Given the description of an element on the screen output the (x, y) to click on. 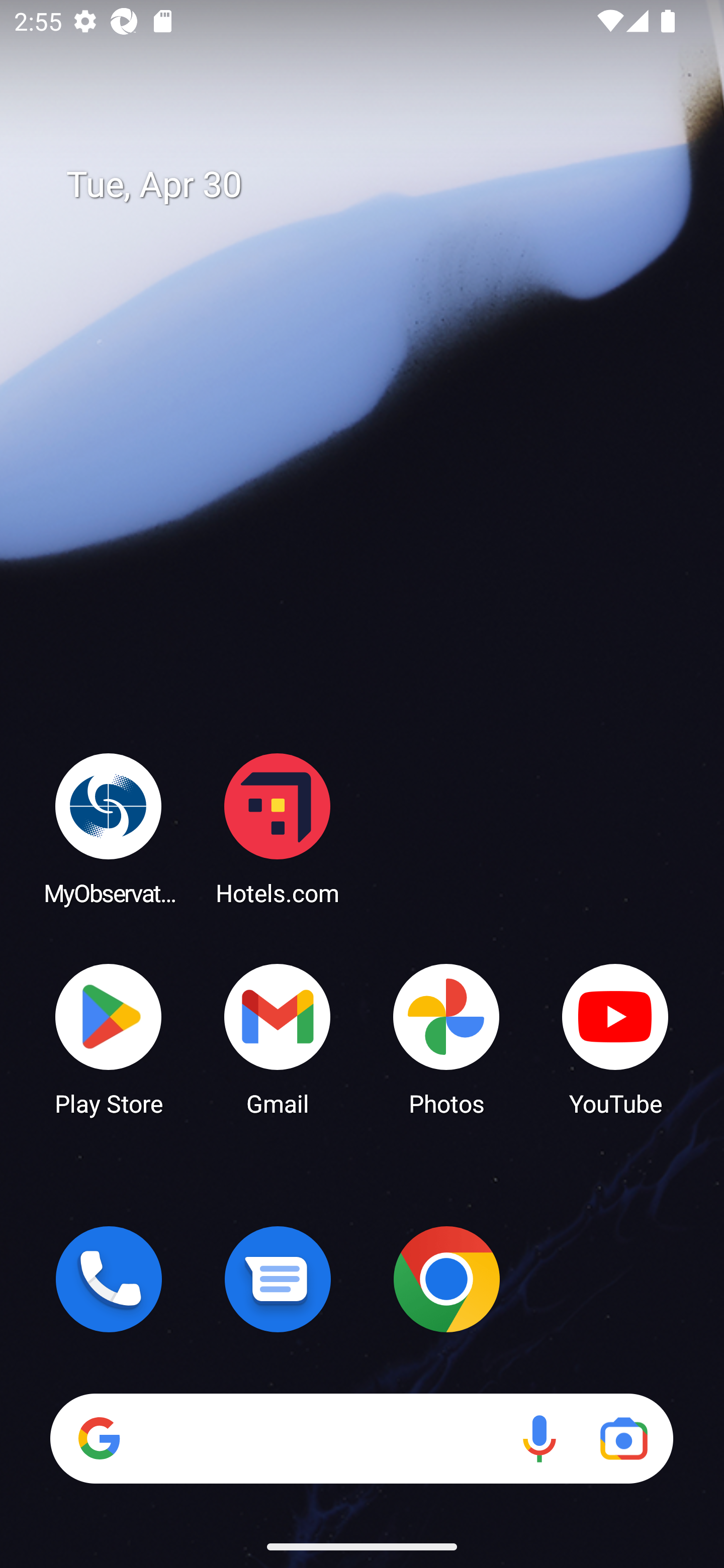
Tue, Apr 30 (375, 184)
MyObservatory (108, 828)
Hotels.com (277, 828)
Play Store (108, 1038)
Gmail (277, 1038)
Photos (445, 1038)
YouTube (615, 1038)
Phone (108, 1279)
Messages (277, 1279)
Chrome (446, 1279)
Voice search (539, 1438)
Google Lens (623, 1438)
